Given the description of an element on the screen output the (x, y) to click on. 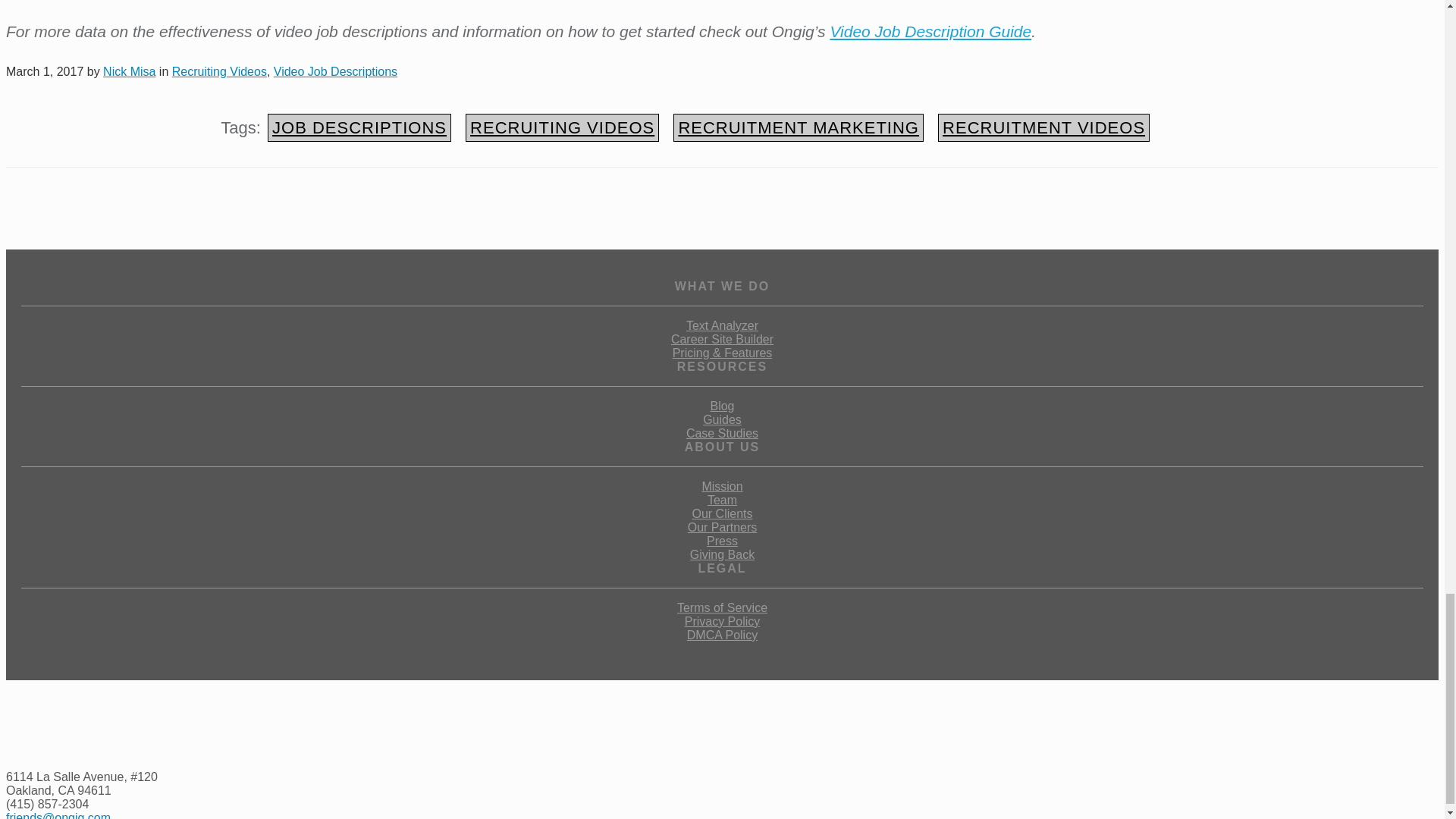
Video Job Description Guide (929, 31)
Video Job Descriptions (335, 71)
Nick Misa (129, 71)
Posts by Nick Misa (129, 71)
JOB DESCRIPTIONS (359, 127)
Recruiting Videos (218, 71)
RECRUITMENT MARKETING (797, 127)
RECRUITING VIDEOS (562, 127)
RECRUITMENT VIDEOS (1043, 127)
Text Analyzer (721, 325)
